Given the description of an element on the screen output the (x, y) to click on. 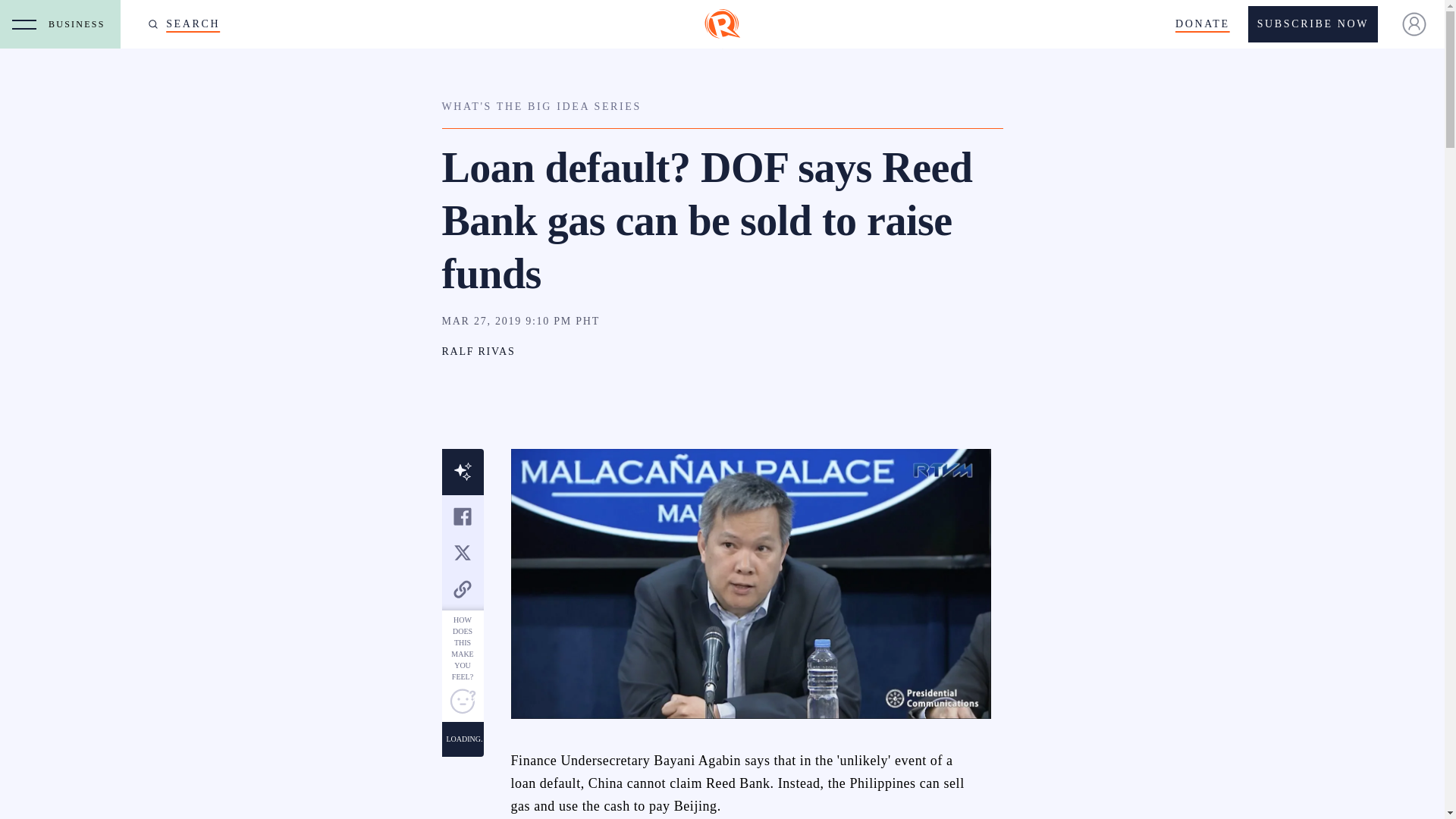
BUSINESS (80, 23)
OPEN NAVIGATION (24, 24)
